Given the description of an element on the screen output the (x, y) to click on. 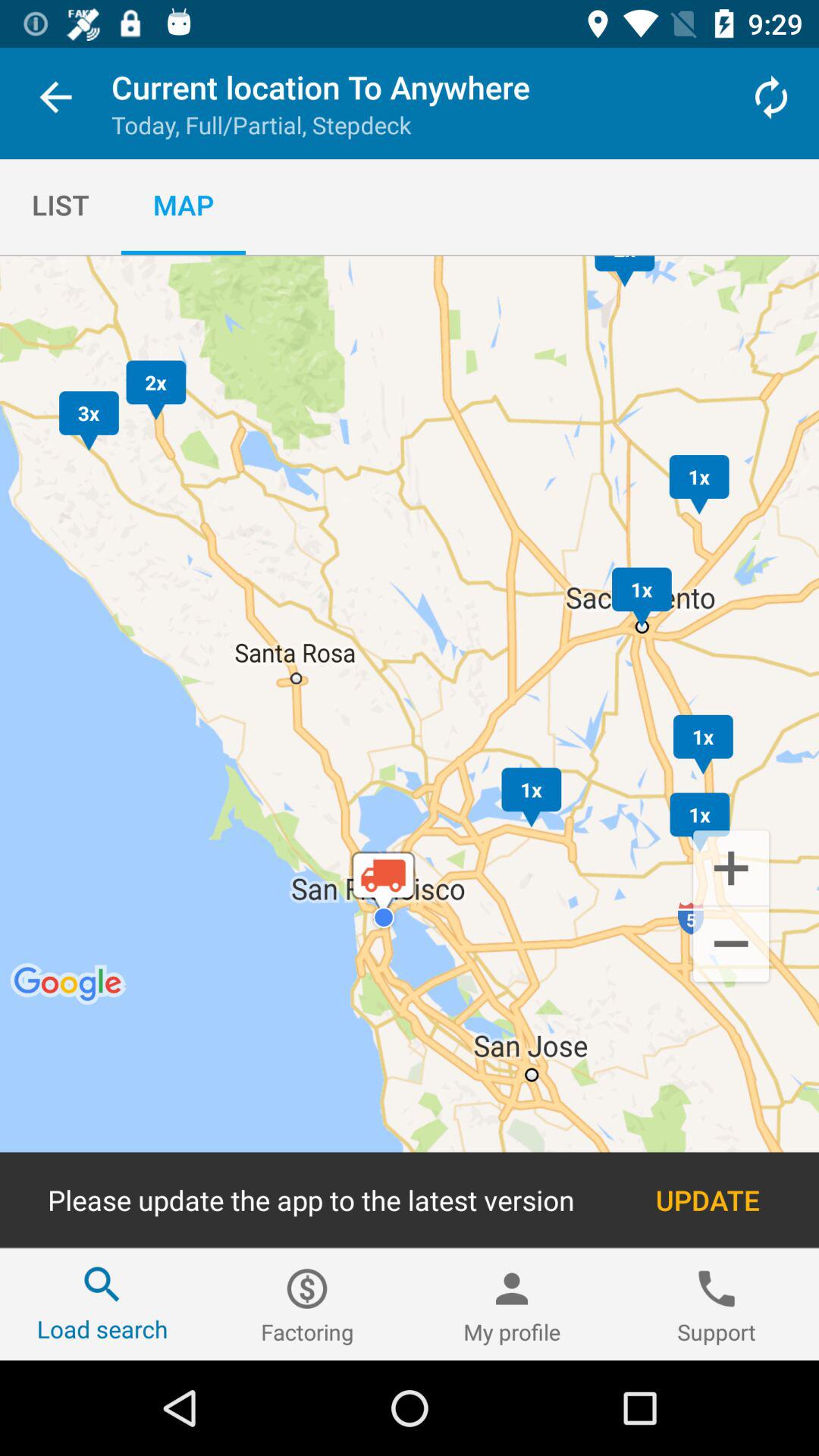
turn off icon next to the current location to icon (771, 97)
